Given the description of an element on the screen output the (x, y) to click on. 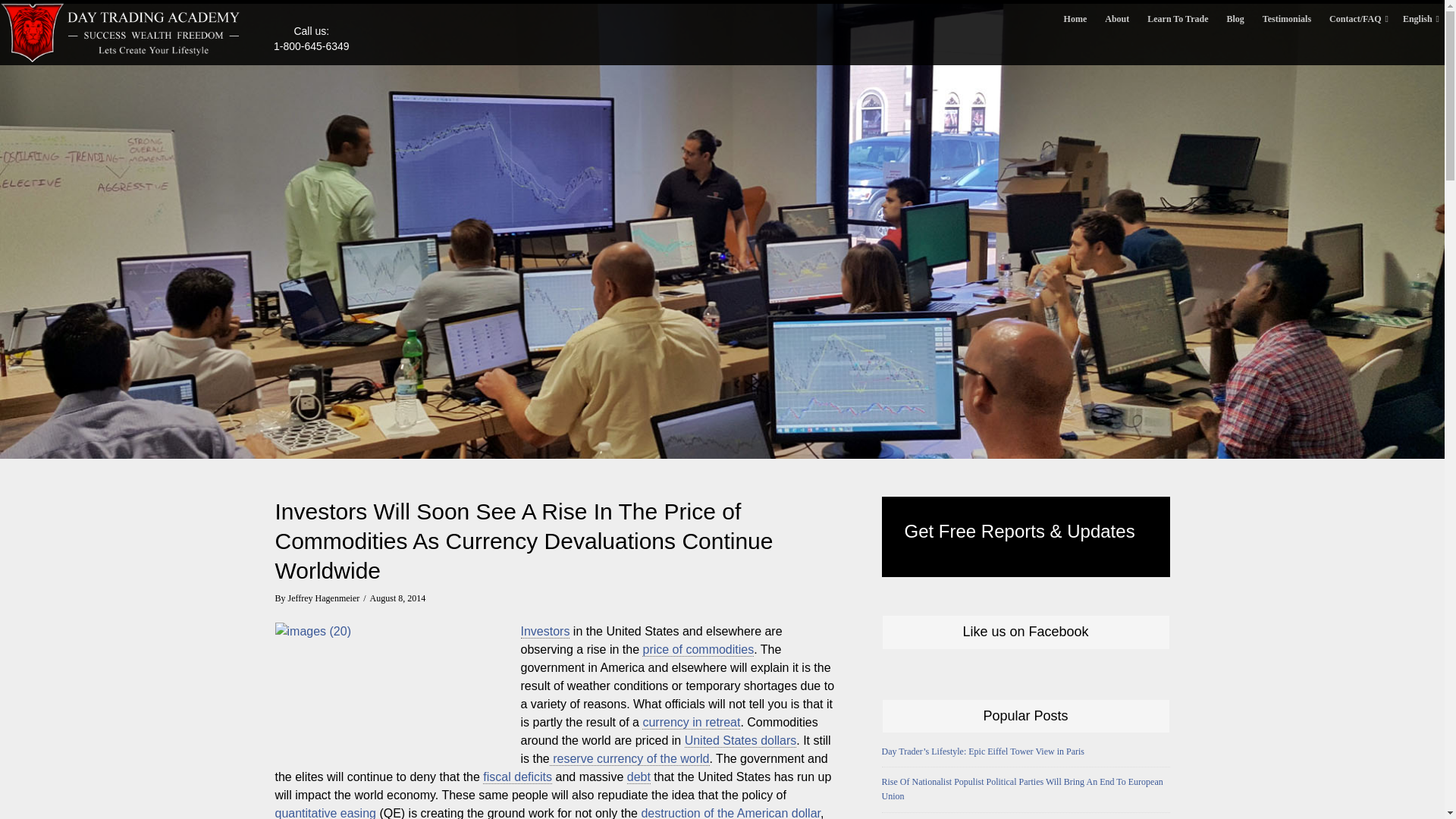
Investors (544, 631)
Home (1075, 18)
Blog (1234, 18)
About (1117, 18)
Now Is The Time To Invest in Gold and Silver (698, 649)
price of commodities (698, 649)
Collapse of the American Dollar (325, 812)
The Decline of the United States Dollar (630, 758)
fiscal deficits (517, 776)
debt (638, 776)
Testimonials (1286, 18)
Where To Invest In A World Drowning in Public Debt (638, 776)
quantitative easing (325, 812)
United States dollars (740, 740)
